Given the description of an element on the screen output the (x, y) to click on. 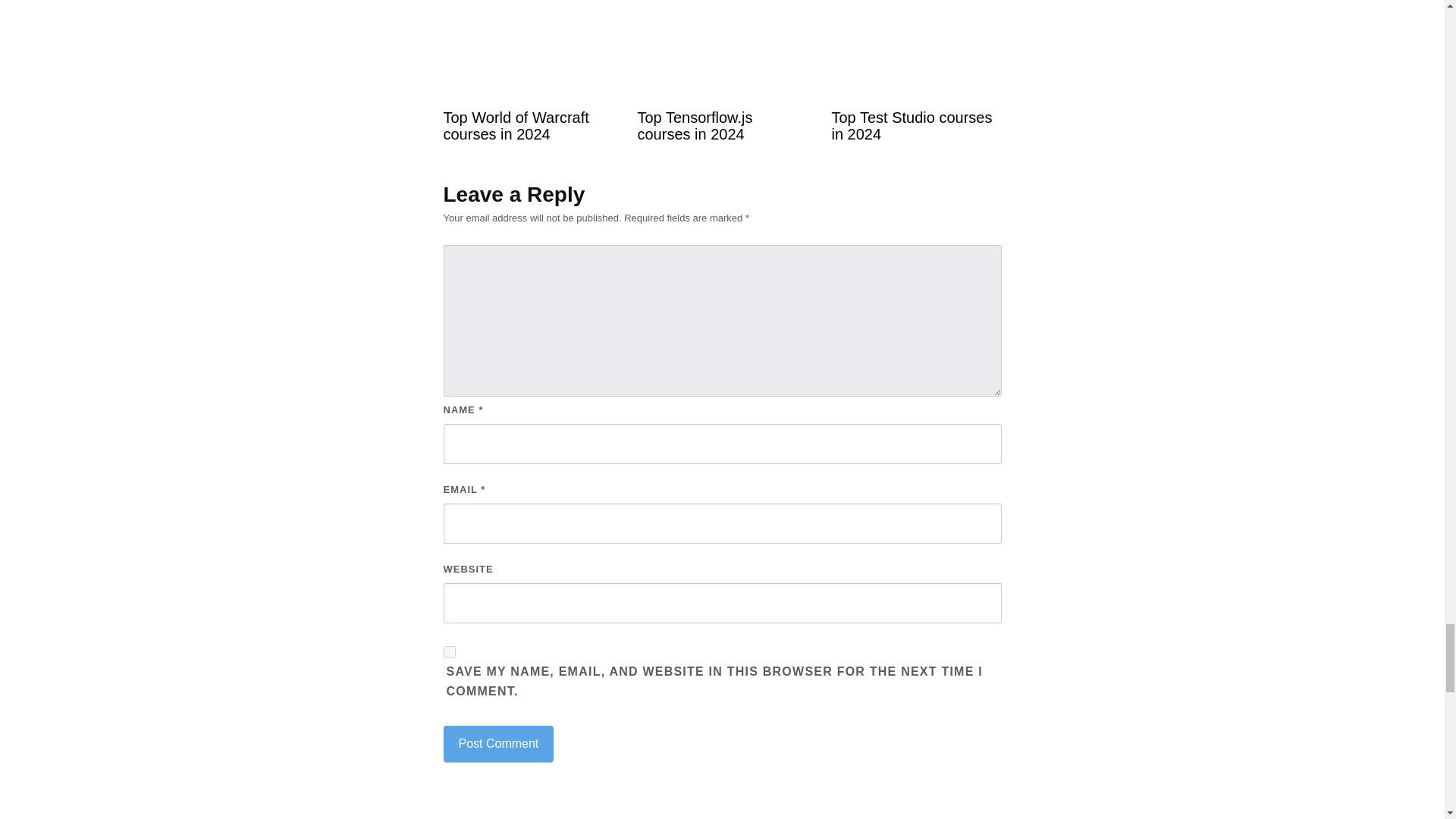
Post Comment (497, 743)
yes (448, 652)
